Given the description of an element on the screen output the (x, y) to click on. 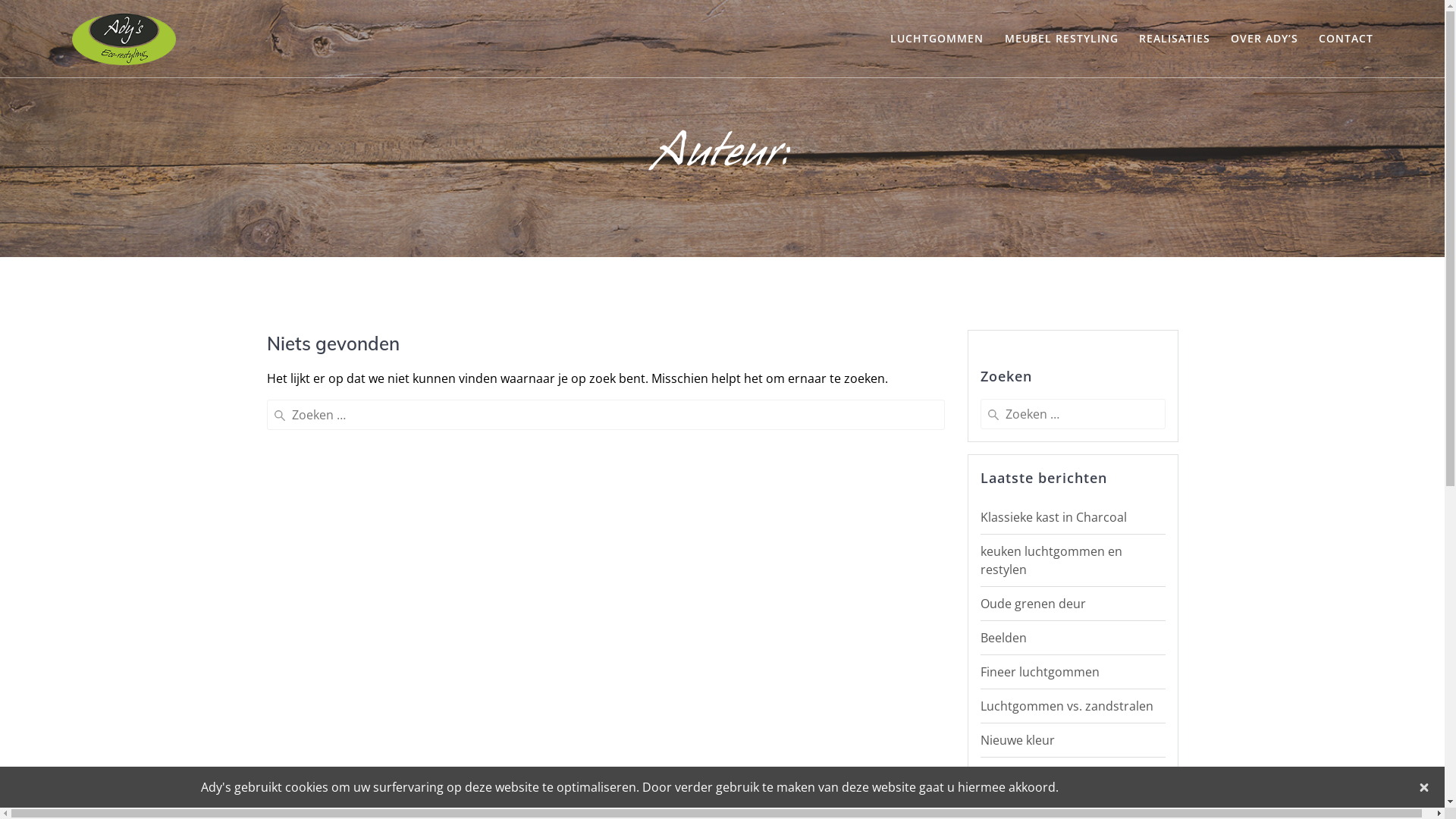
Nieuwe kleur Element type: text (1016, 739)
MEUBEL RESTYLING Element type: text (1061, 38)
keuken luchtgommen en restylen Element type: text (1050, 559)
Ga naar de inhoud Element type: text (0, 0)
Oude grenen deur Element type: text (1032, 603)
Plantenstaanders in nieuwe kleuren Element type: text (1059, 782)
REALISATIES Element type: text (1174, 38)
Klassieke kast in Charcoal Element type: text (1052, 516)
Fineer luchtgommen Element type: text (1038, 671)
CONTACT Element type: text (1345, 38)
LUCHTGOMMEN Element type: text (936, 38)
Luchtgommen vs. zandstralen Element type: text (1065, 705)
Beelden Element type: text (1002, 637)
